Given the description of an element on the screen output the (x, y) to click on. 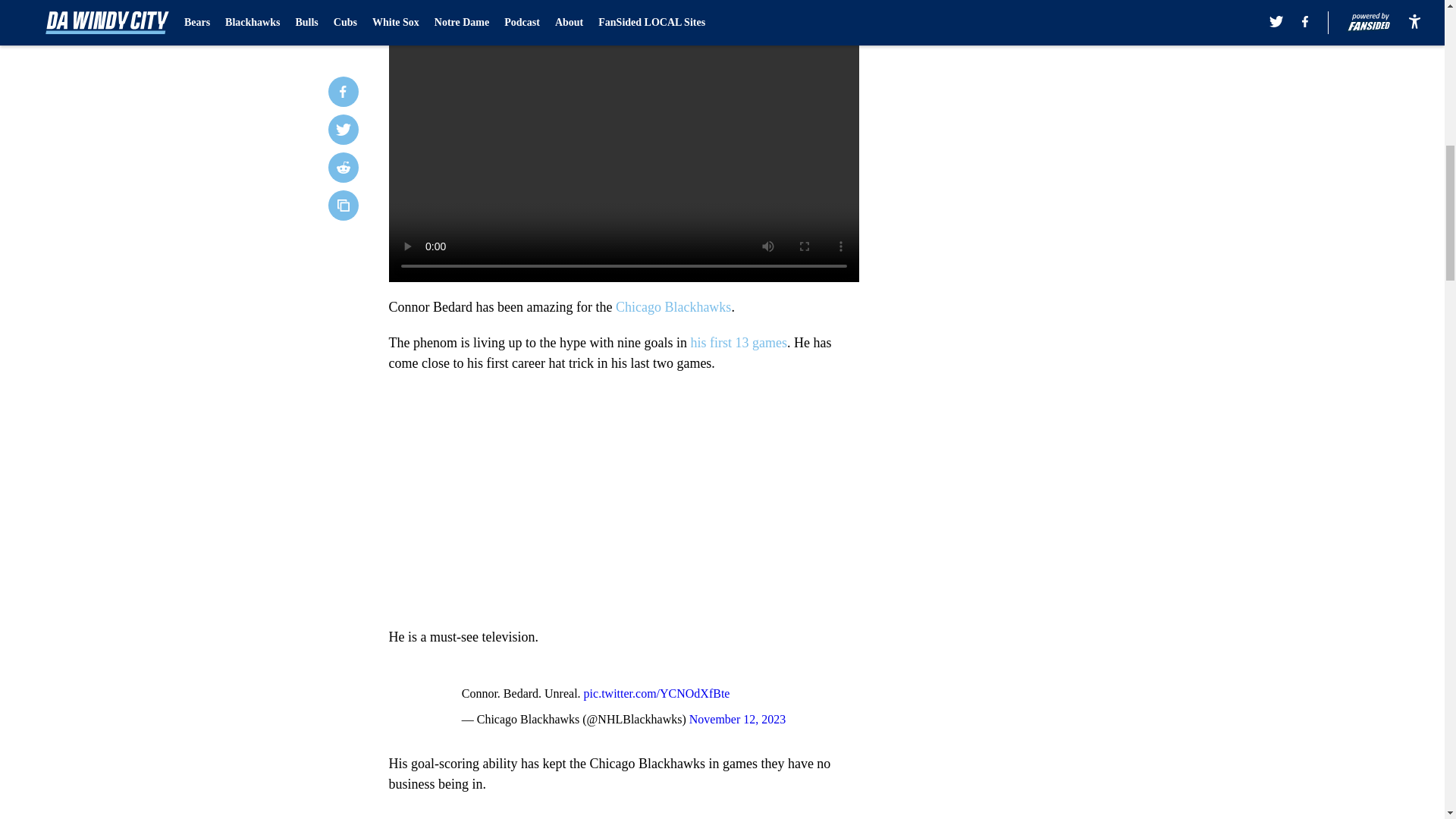
3rd party ad content (1047, 332)
Chicago Blackhawks (672, 306)
his first 13 games (738, 342)
3rd party ad content (1047, 113)
November 12, 2023 (737, 718)
